Given the description of an element on the screen output the (x, y) to click on. 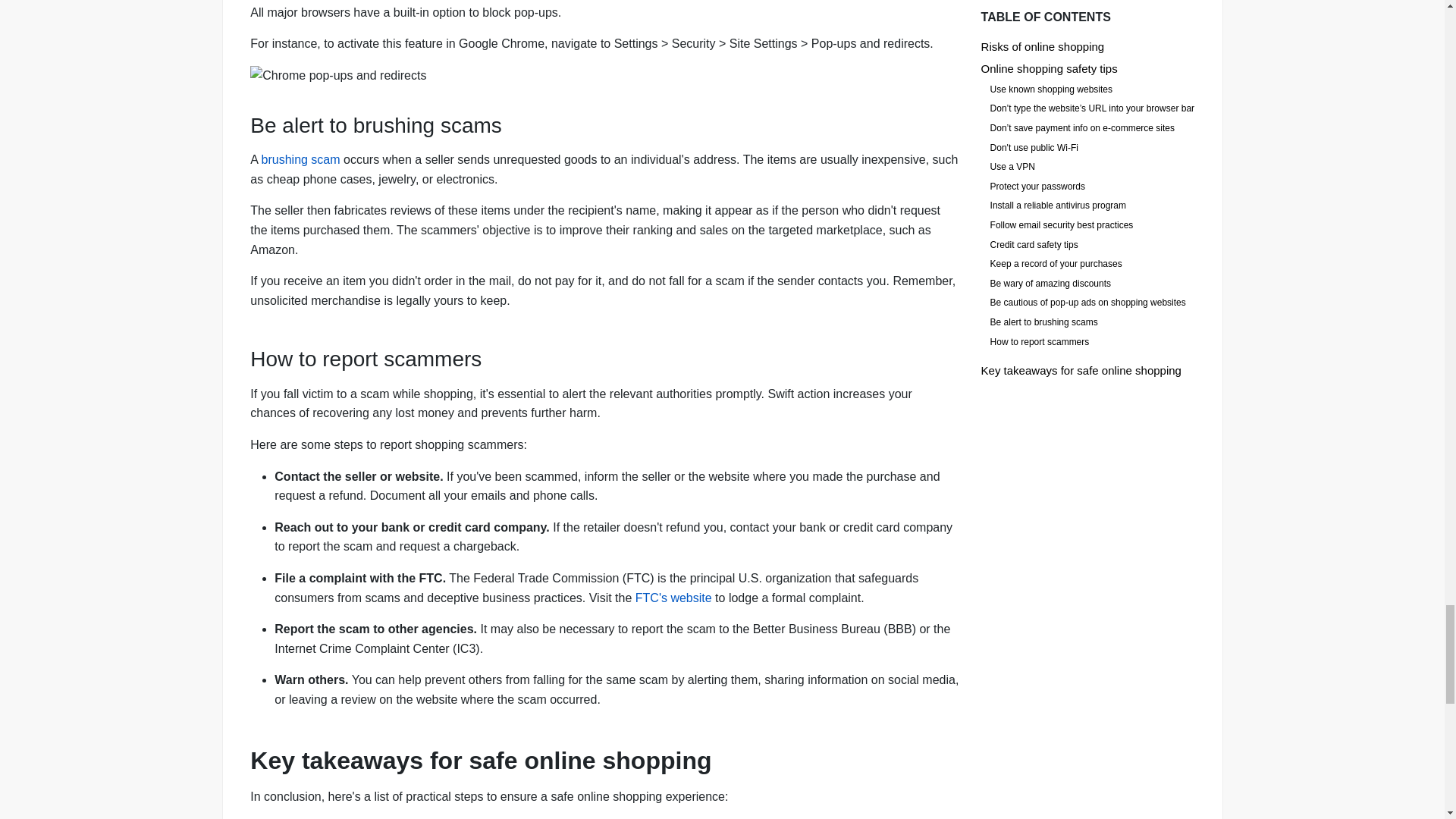
FTC's website (671, 597)
brushing scam (301, 159)
Chrome pop-ups and redirects (604, 75)
